Given the description of an element on the screen output the (x, y) to click on. 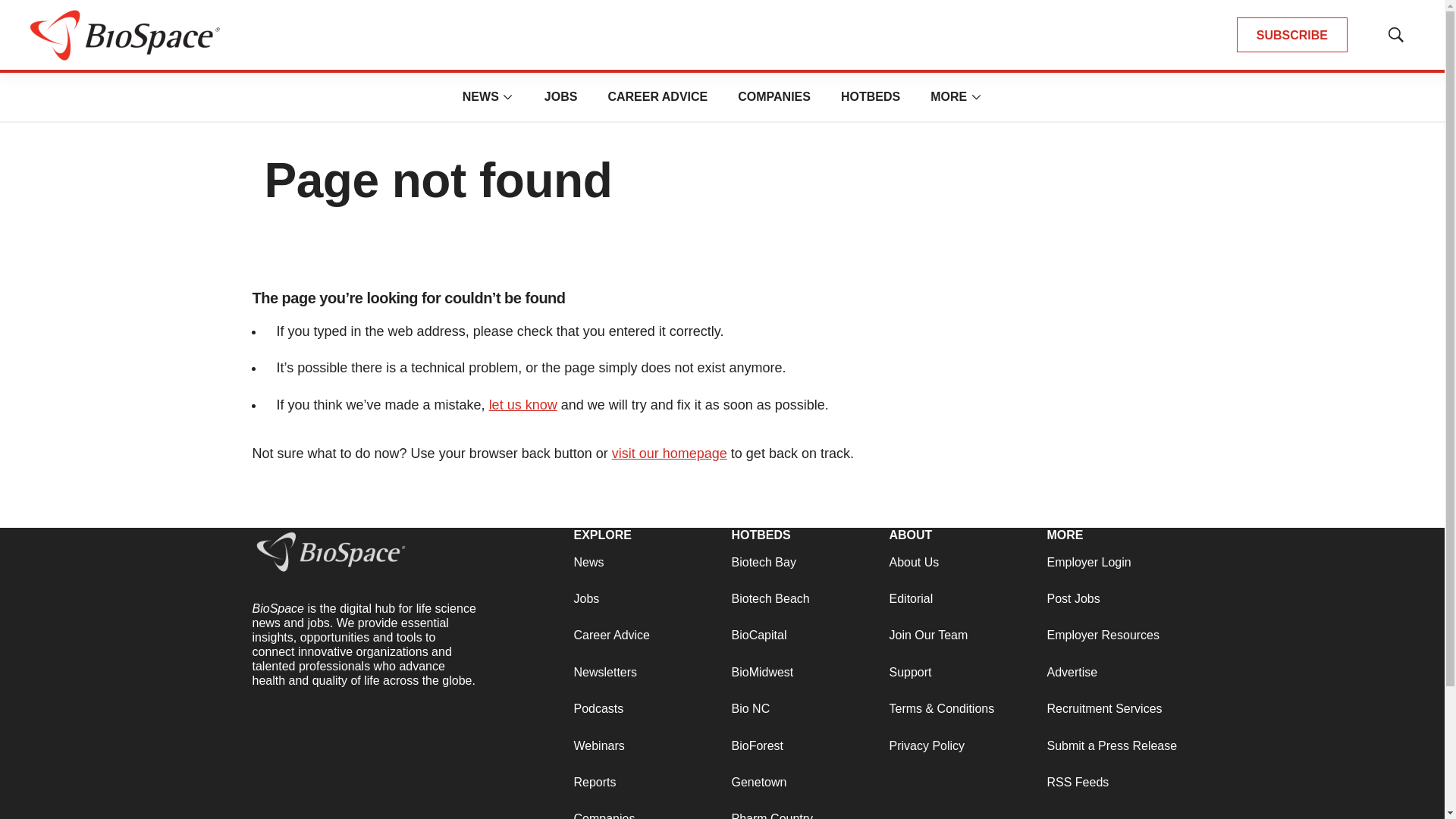
SUBSCRIBE (1292, 34)
NEWS (481, 96)
Show Search (1395, 34)
